Given the description of an element on the screen output the (x, y) to click on. 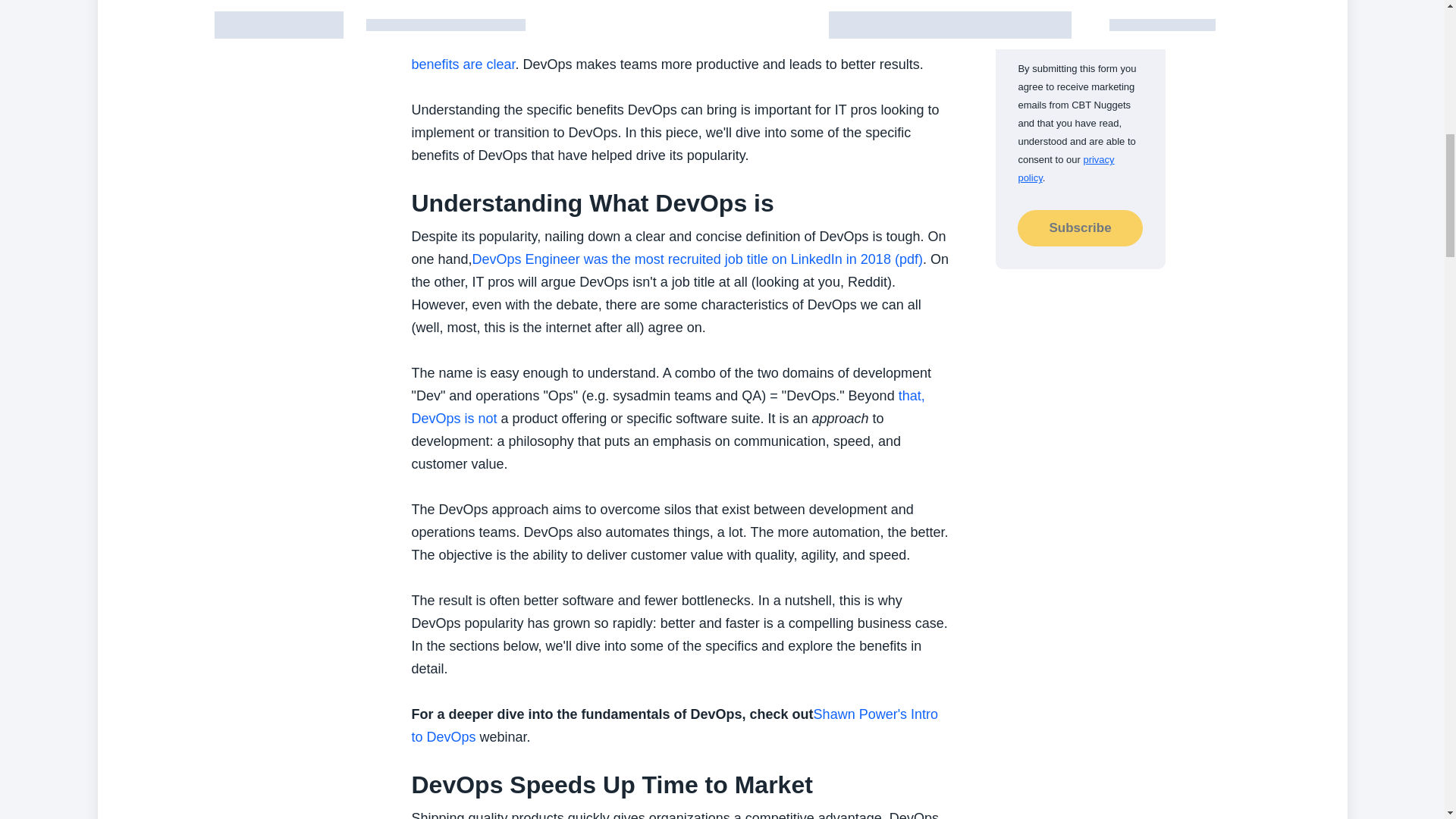
privacy policy (1065, 168)
Subscribe (1079, 227)
Shawn Power's Intro to DevOps (673, 725)
that, DevOps is not (667, 406)
potential benefits are clear (670, 53)
